Given the description of an element on the screen output the (x, y) to click on. 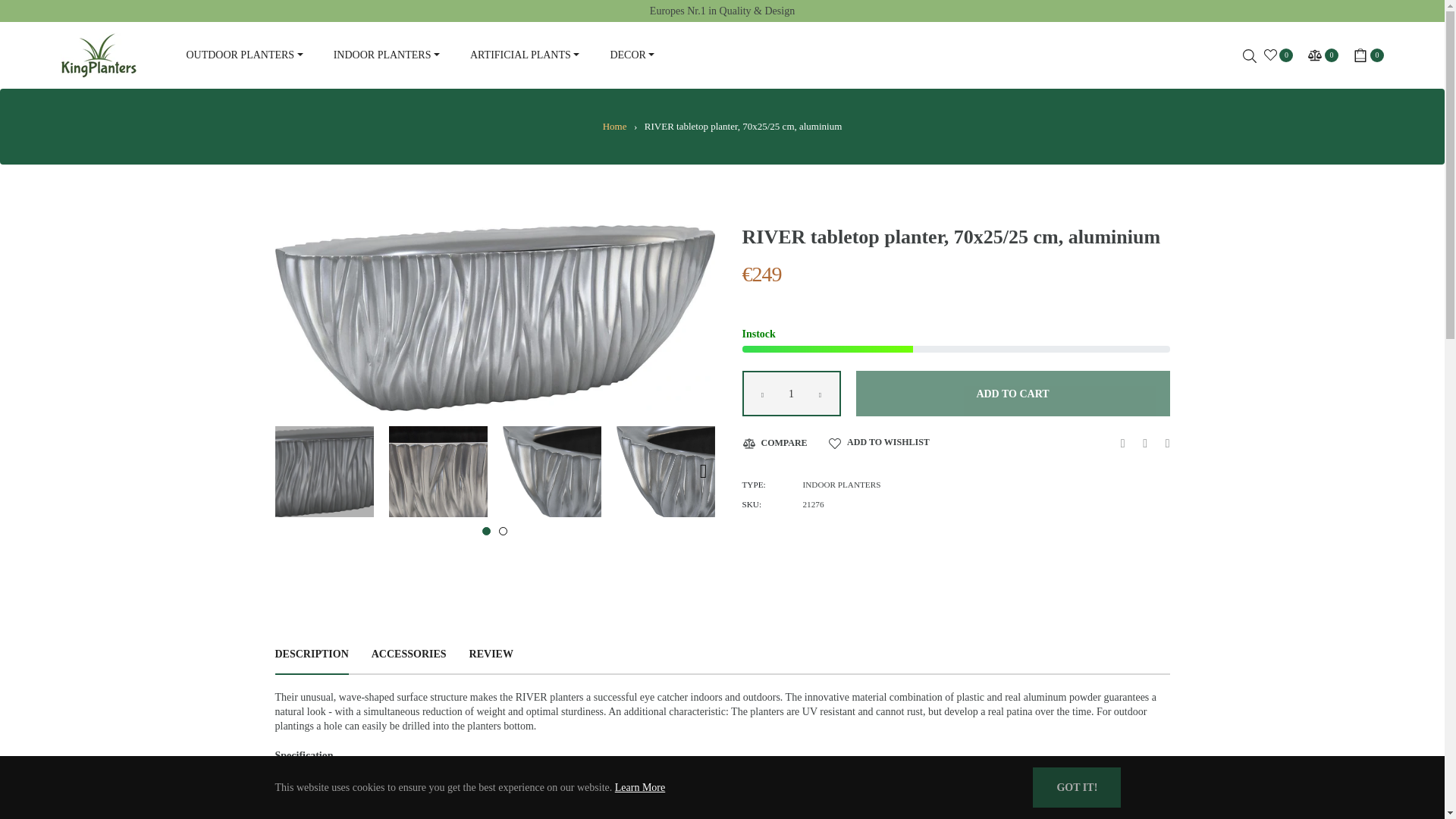
Home (613, 125)
0 (1322, 54)
ARTIFICIAL PLANTS (524, 54)
OUTDOOR PLANTERS (243, 54)
INDOOR PLANTERS (386, 54)
Wishlist (1278, 54)
Home (613, 125)
1 (790, 393)
Compare (1322, 54)
DECOR (631, 54)
Shopping Cart (1369, 55)
0 (1278, 54)
